Given the description of an element on the screen output the (x, y) to click on. 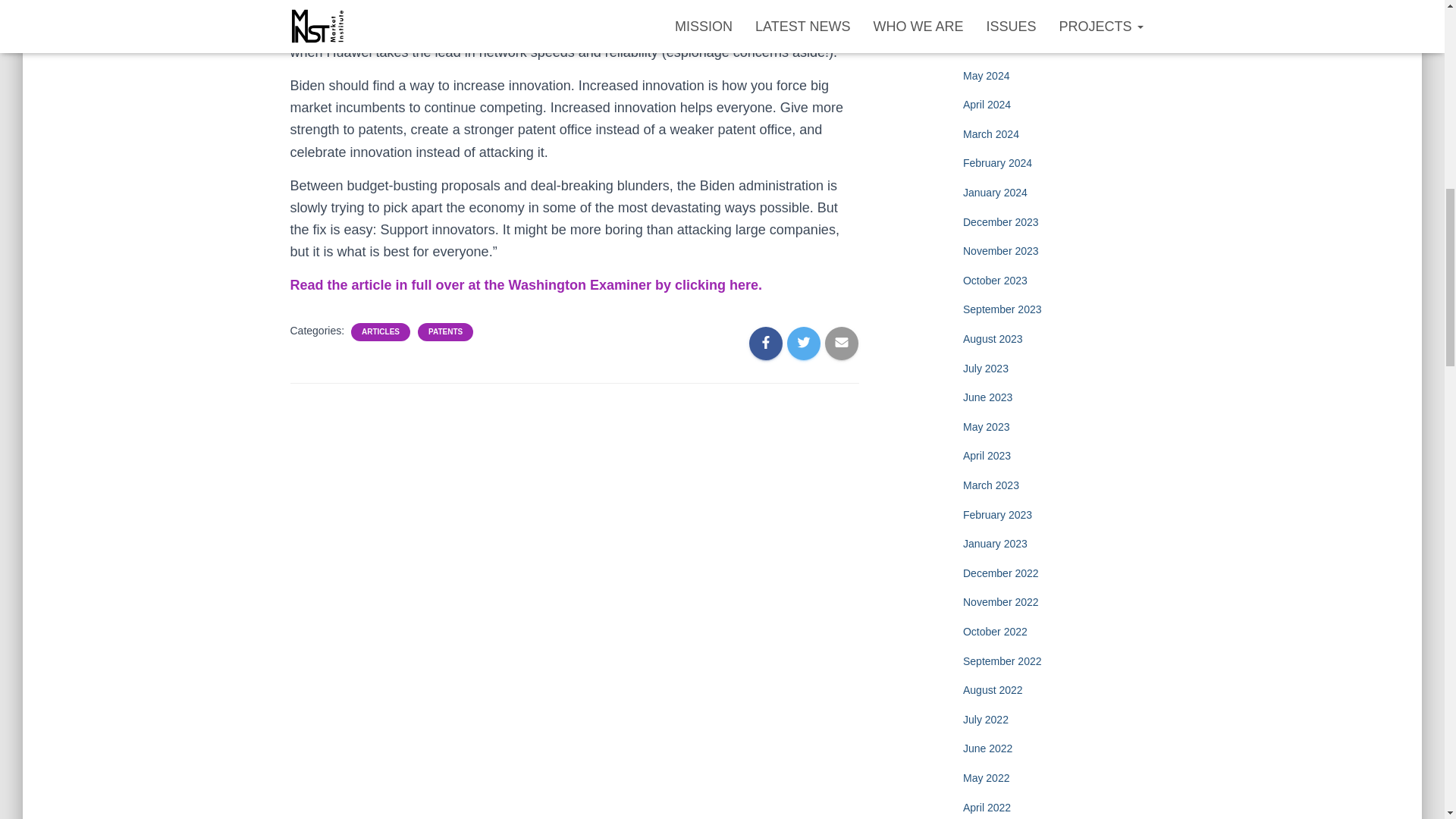
August 2023 (992, 338)
November 2023 (1000, 250)
February 2023 (997, 514)
June 2023 (986, 397)
July 2023 (985, 368)
March 2023 (990, 485)
China (696, 29)
October 2023 (994, 280)
February 2024 (997, 162)
April 2024 (986, 104)
March 2024 (990, 133)
July 2024 (985, 16)
PATENTS (445, 331)
May 2023 (985, 426)
